Given the description of an element on the screen output the (x, y) to click on. 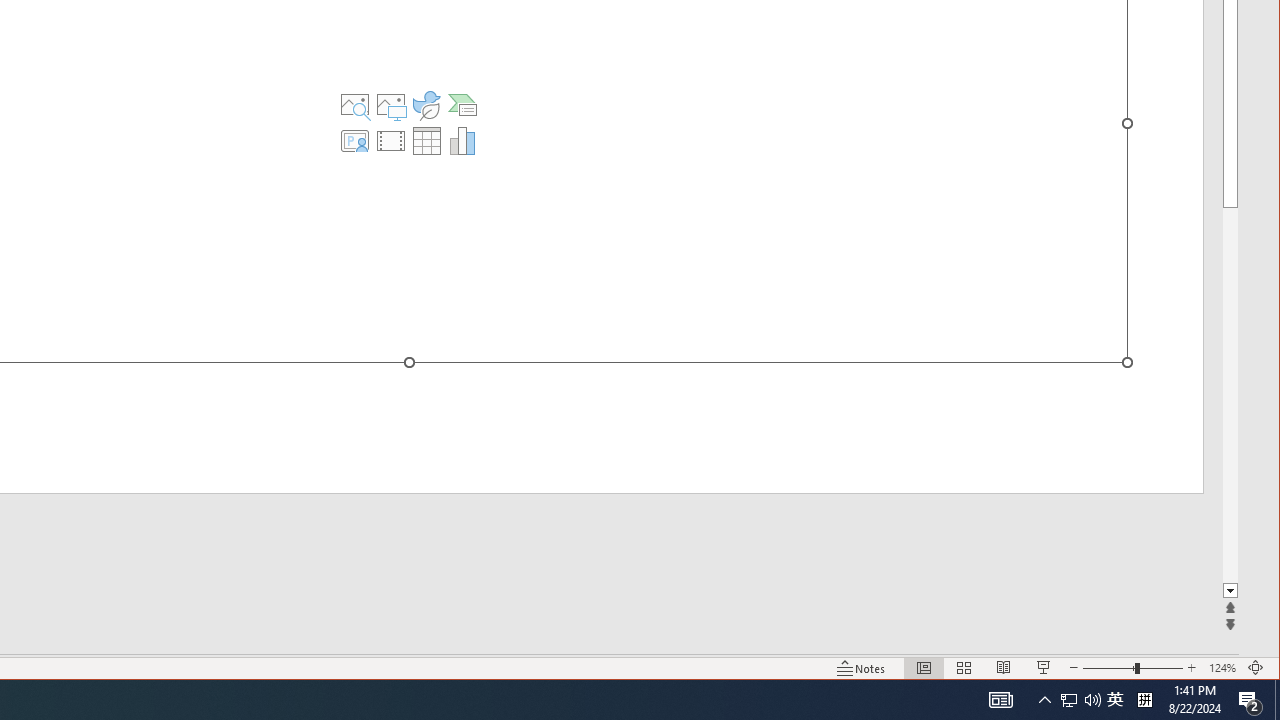
Insert Cameo (355, 140)
Stock Images (355, 104)
Insert Chart (462, 140)
Pictures (391, 104)
